Given the description of an element on the screen output the (x, y) to click on. 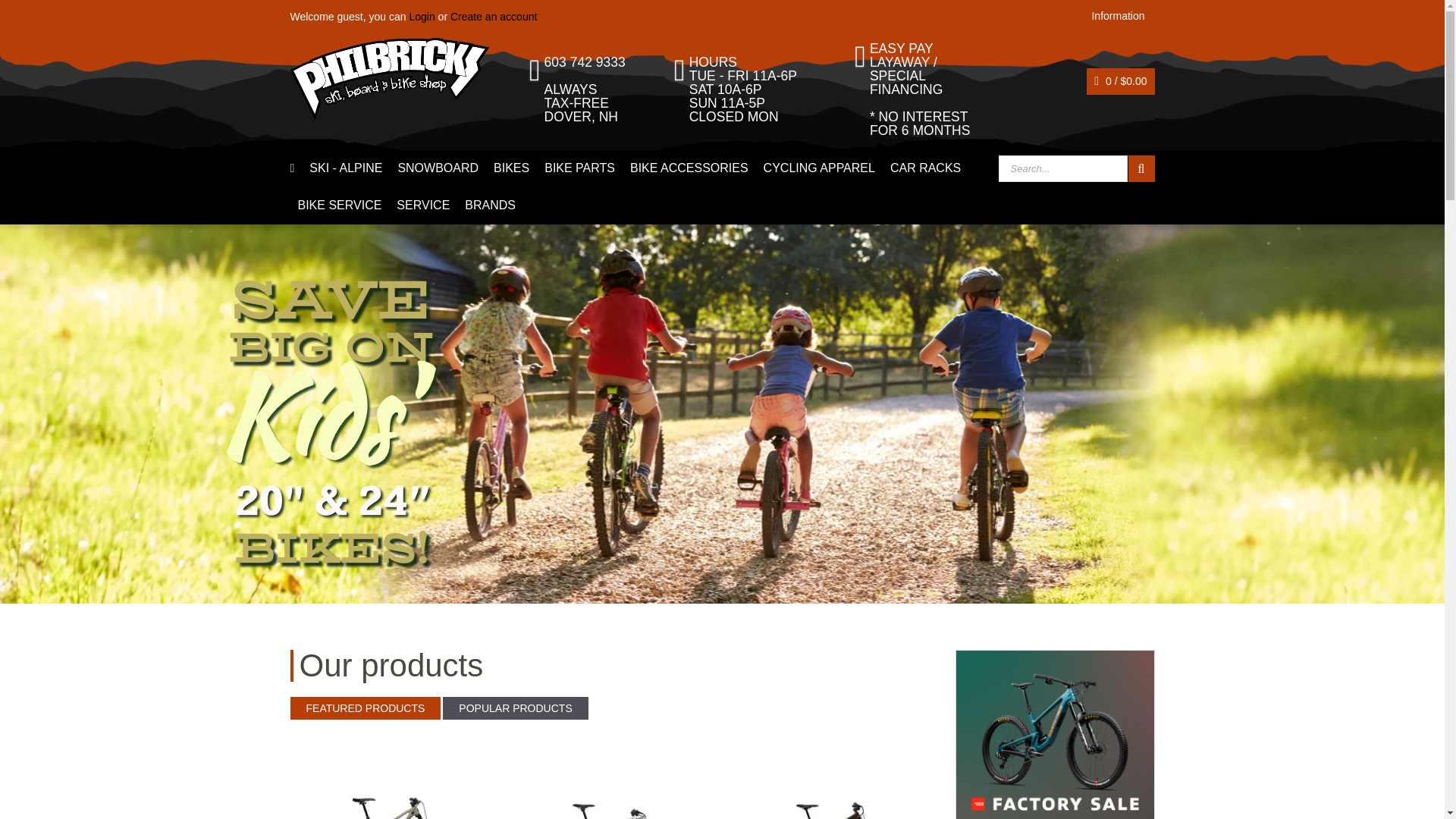
Create an account (493, 16)
Information (1117, 16)
SKI - ALPINE (345, 168)
Login (421, 16)
